Given the description of an element on the screen output the (x, y) to click on. 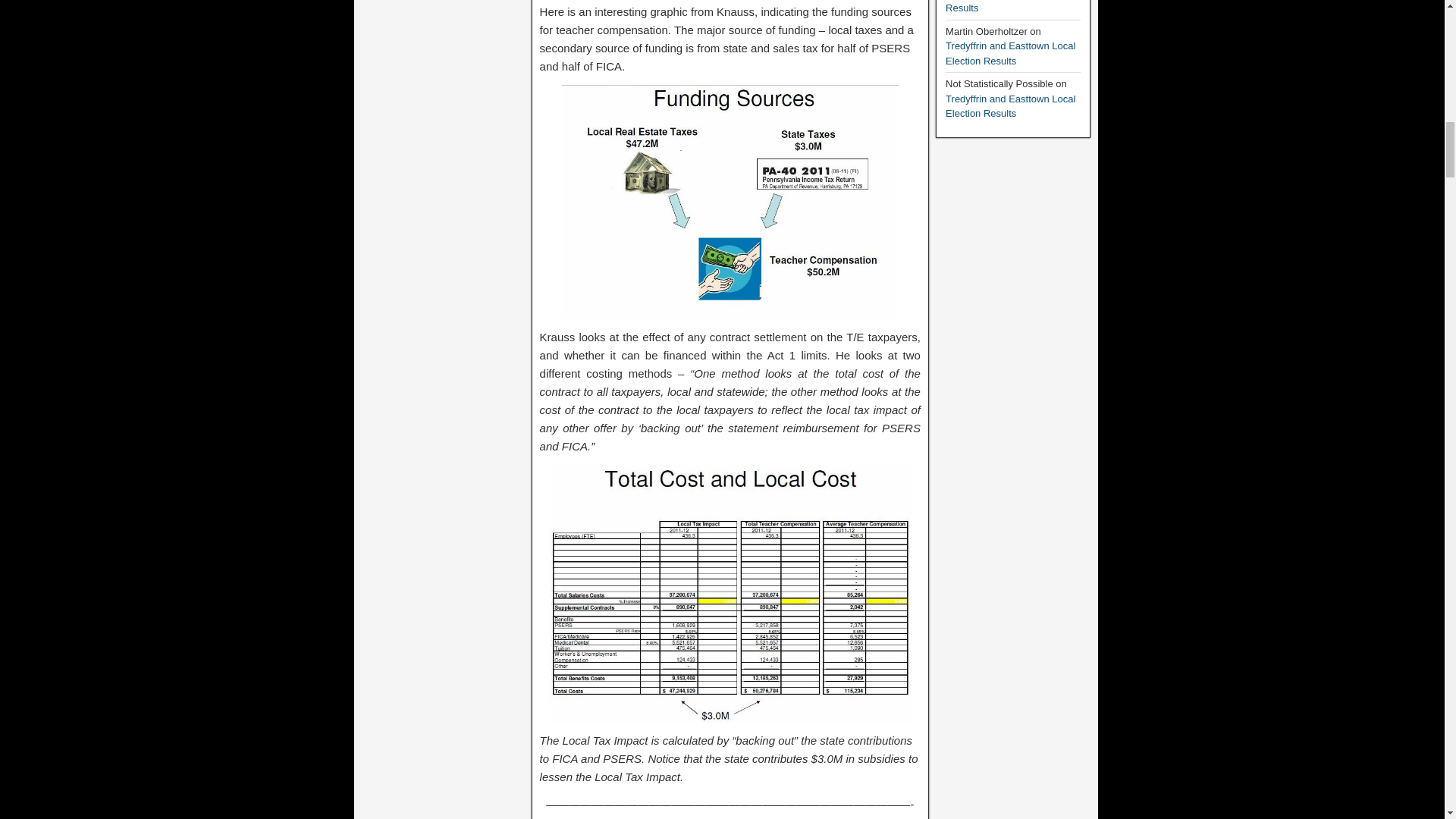
Knauss 5 (729, 593)
Knauss 4 (730, 201)
